Given the description of an element on the screen output the (x, y) to click on. 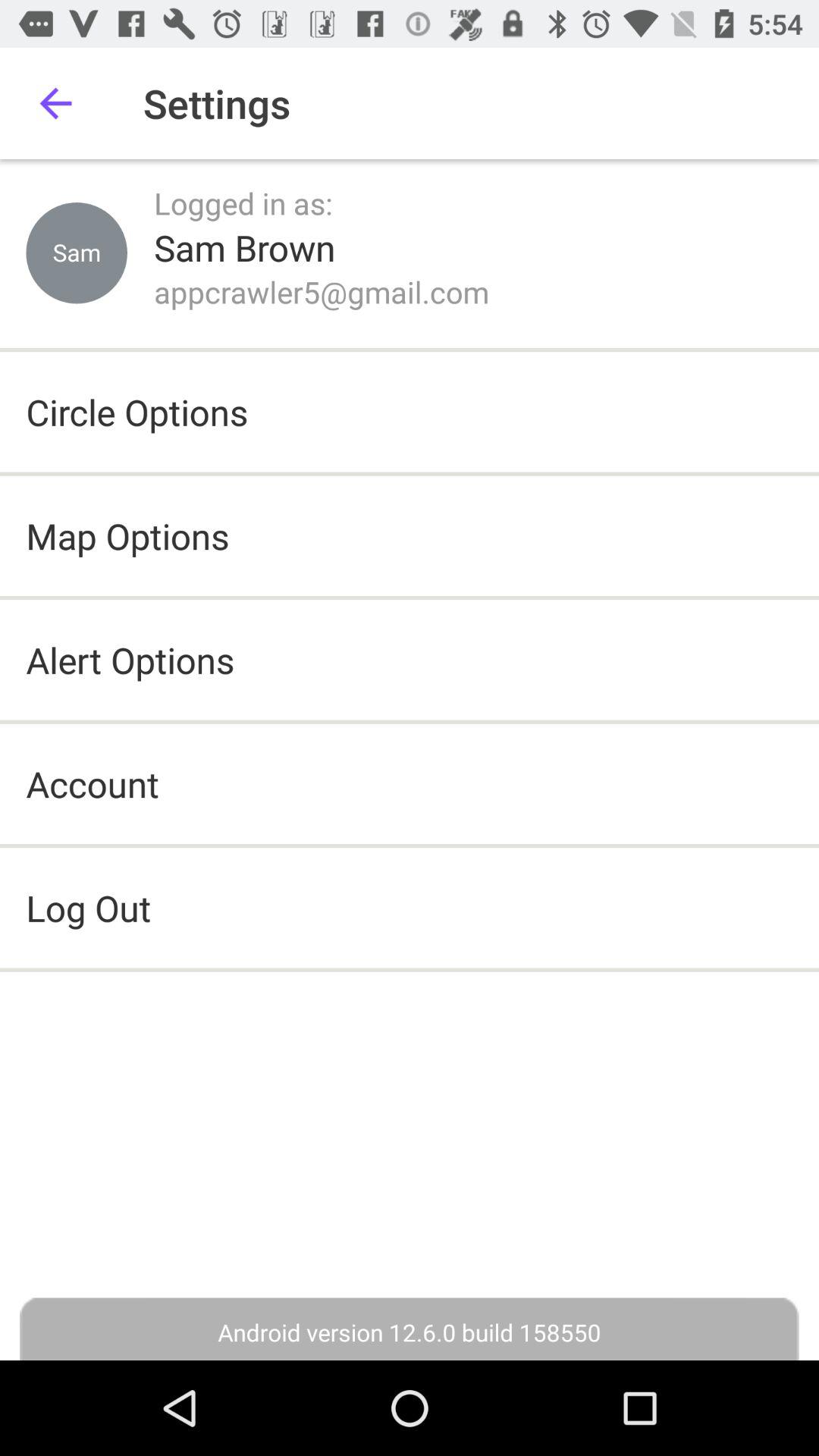
choose the item above the alert options icon (127, 535)
